Given the description of an element on the screen output the (x, y) to click on. 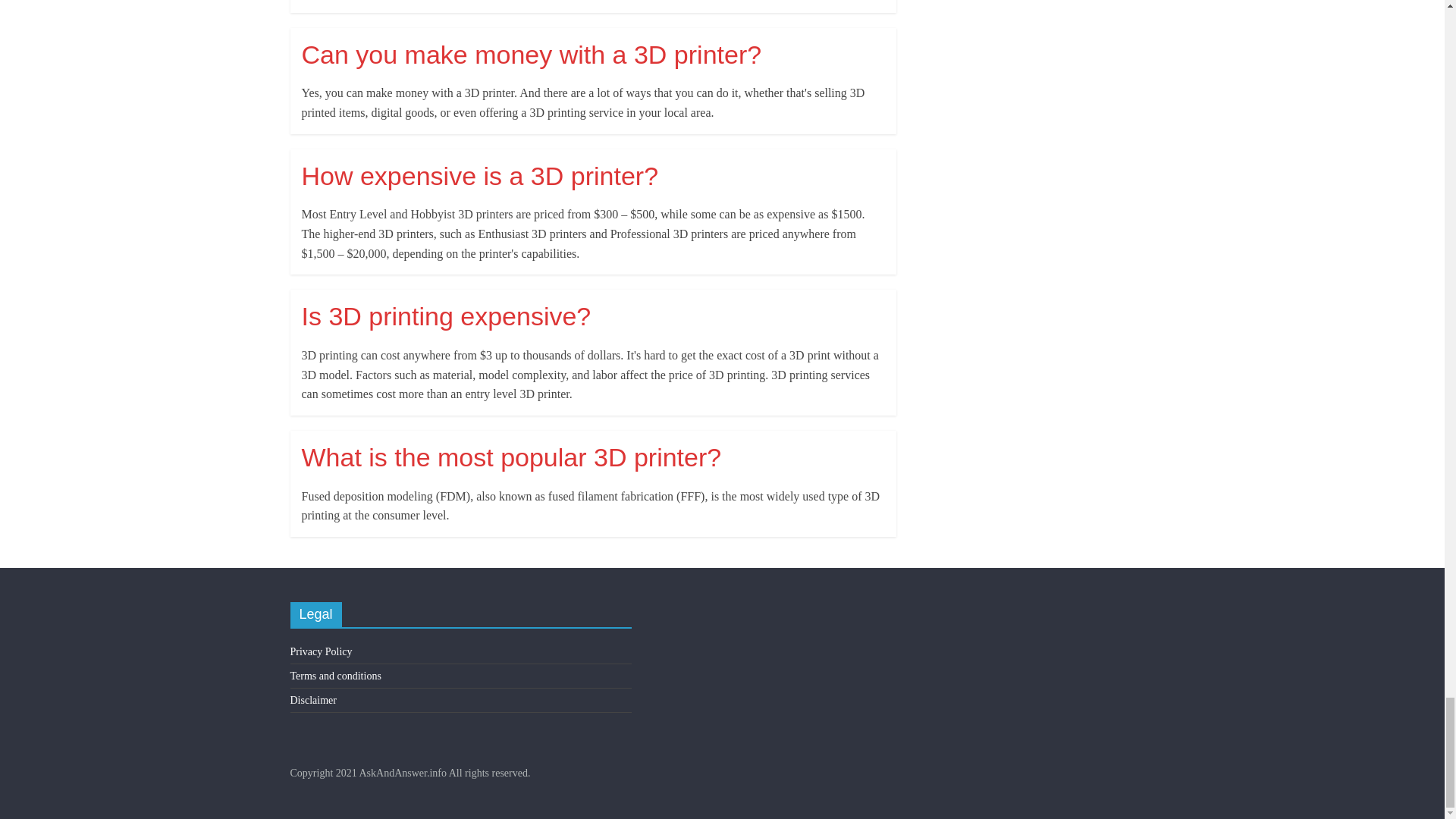
Is 3D printing expensive? (446, 316)
What is the most popular 3D printer? (511, 457)
How expensive is a 3D printer? (480, 175)
Can you make money with a 3D printer? (531, 54)
